Given the description of an element on the screen output the (x, y) to click on. 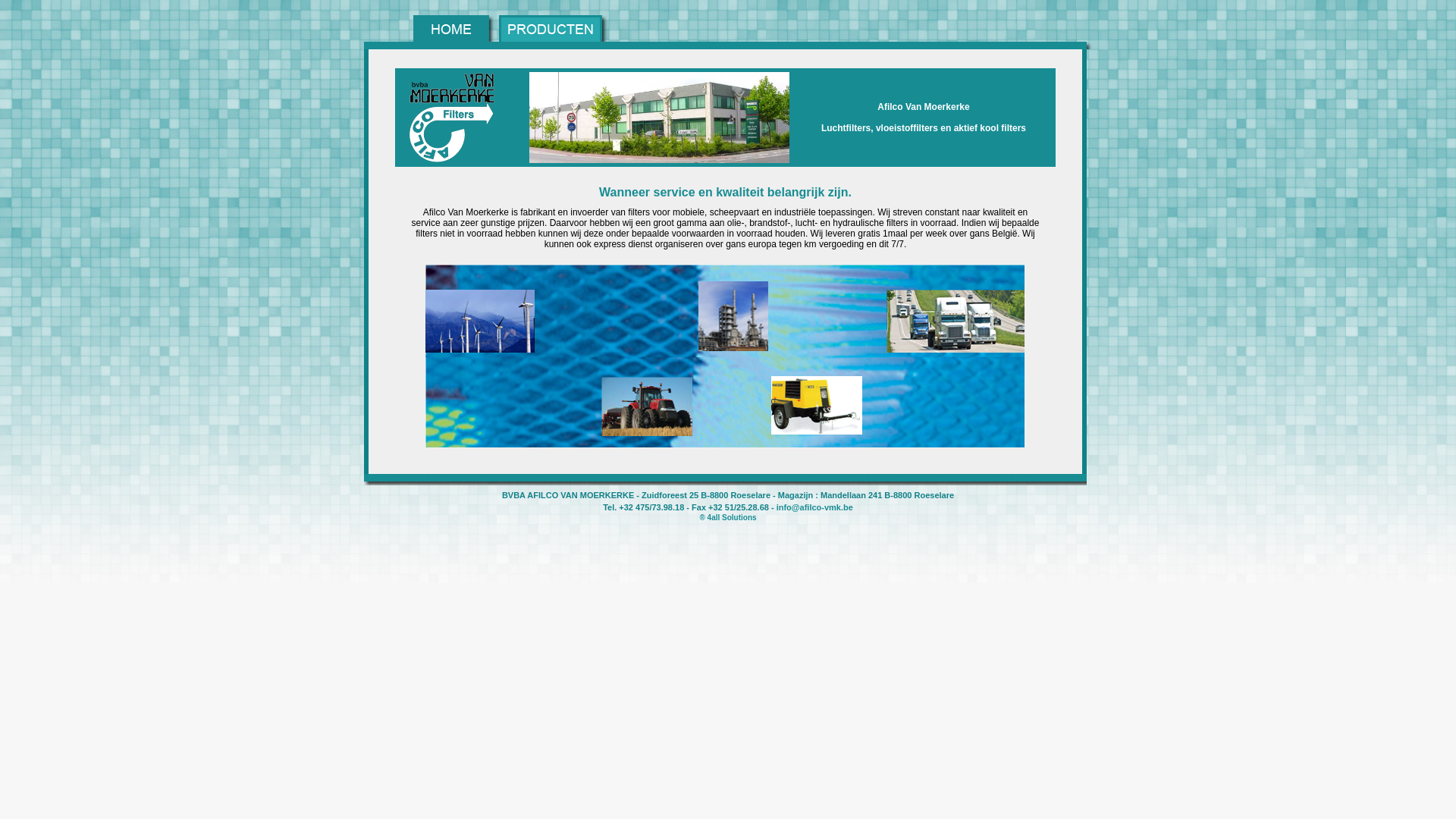
info@afilco-vmk.be Element type: text (814, 506)
Afilco Van Moerkerke Element type: hover (451, 117)
Afilco Van Moerkerke Element type: hover (659, 117)
Afilco Van Moerkerke Element type: hover (724, 355)
